Given the description of an element on the screen output the (x, y) to click on. 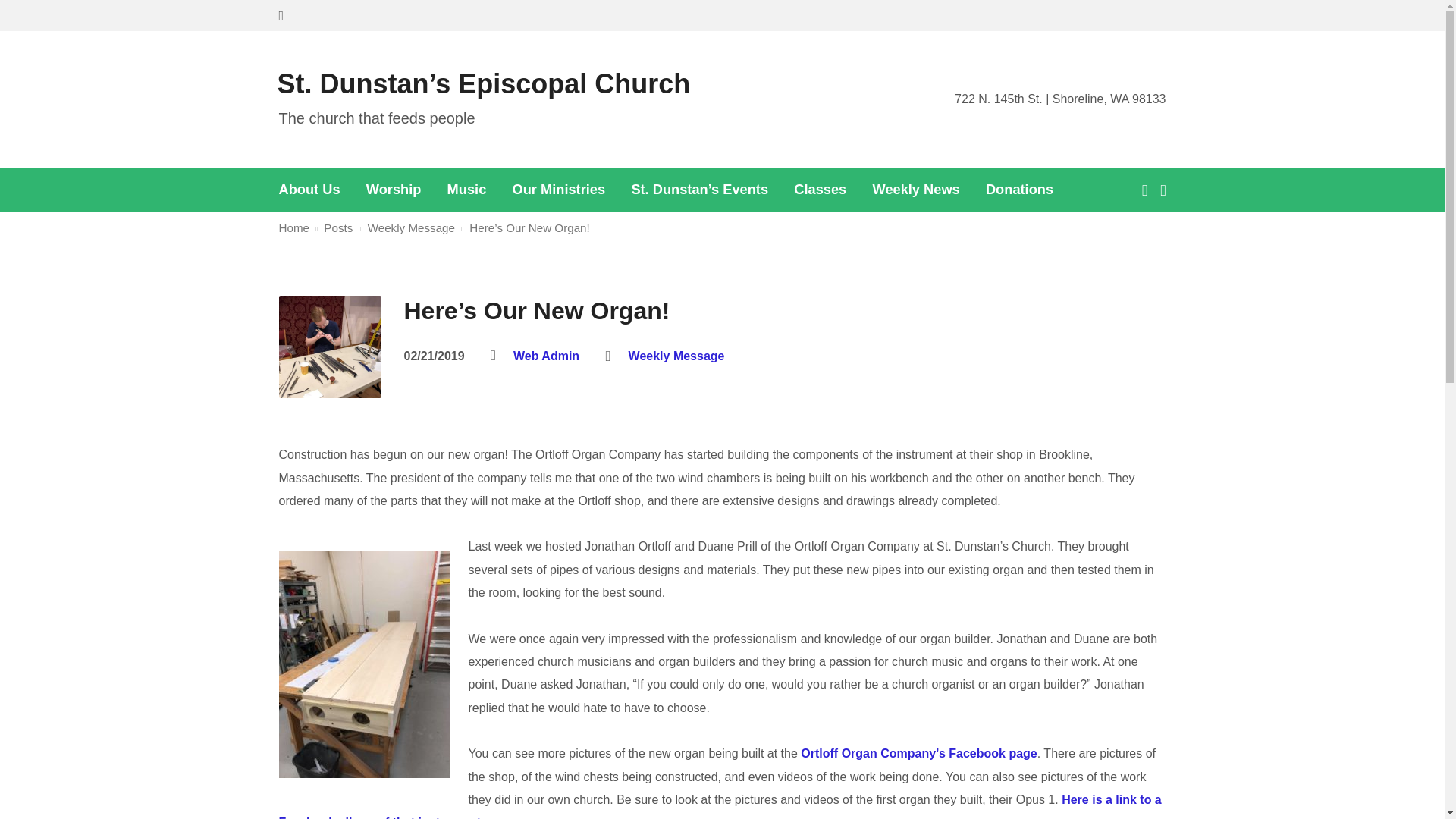
Weekly Message (411, 227)
Worship (394, 189)
Web Admin (546, 355)
Weekly News (915, 189)
Our Ministries (558, 189)
Donations (1018, 189)
Posts (337, 227)
Weekly Message (676, 355)
Here is a link to a Facebook album of that instrument. (720, 806)
Classes (819, 189)
